Given the description of an element on the screen output the (x, y) to click on. 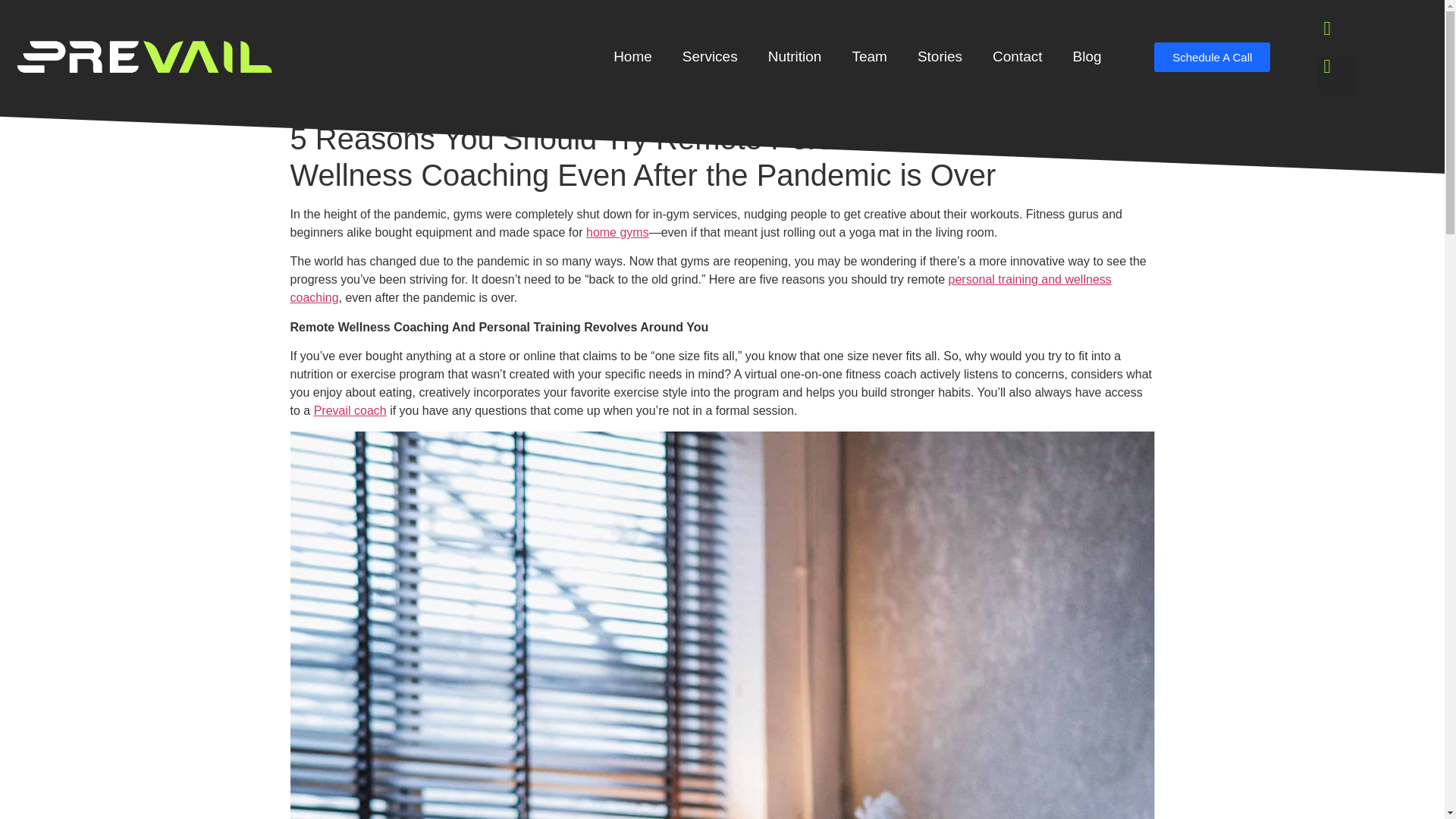
Blog (1087, 56)
Contact (1016, 56)
Services (709, 56)
Prevail coach (350, 410)
Nutrition (794, 56)
personal training and wellness coaching (699, 287)
Schedule A Call (1211, 57)
Stories (939, 56)
home gyms (617, 232)
Home (632, 56)
